Given the description of an element on the screen output the (x, y) to click on. 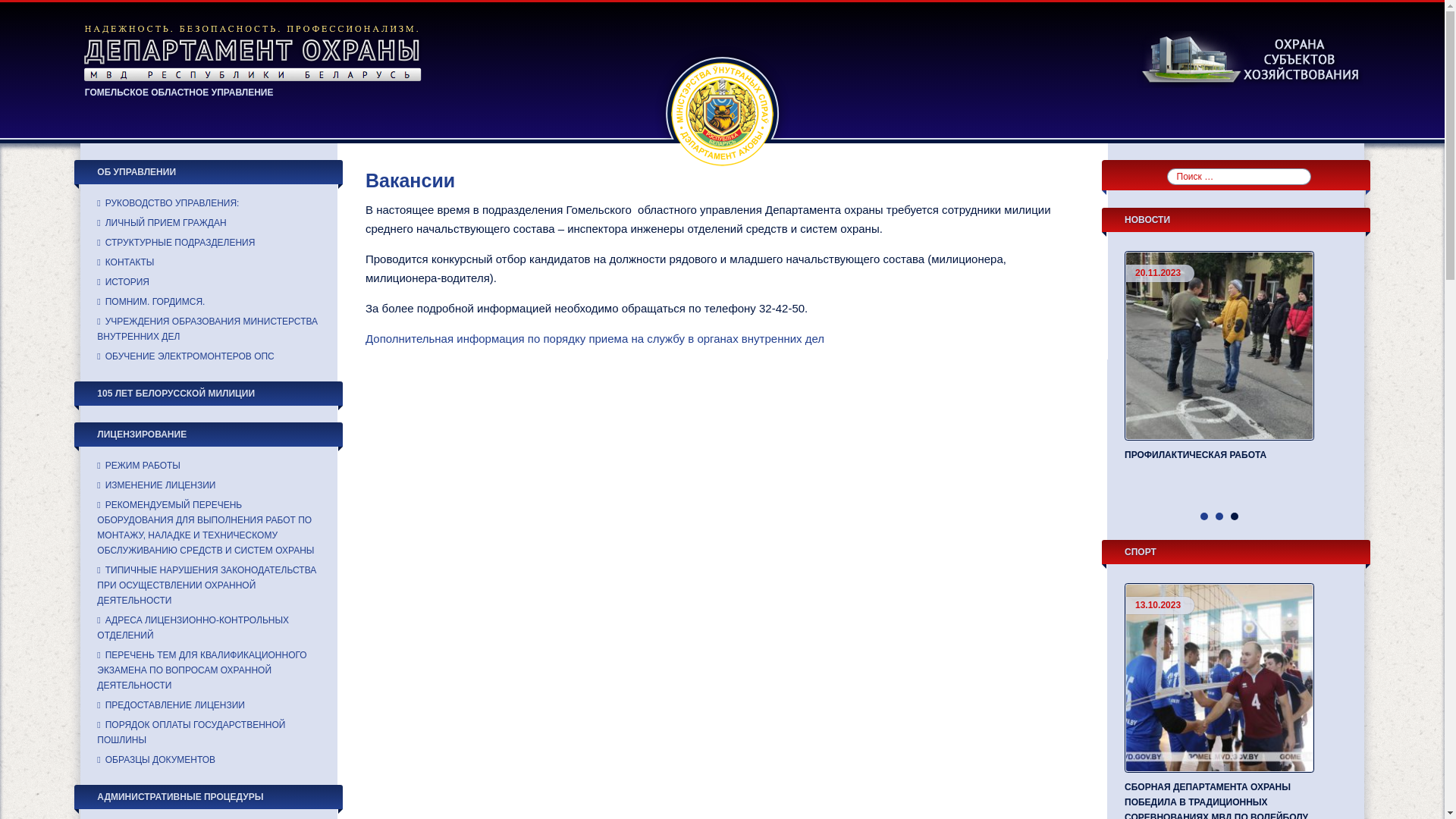
2 Element type: text (1219, 516)
1 Element type: text (1204, 516)
3 Element type: text (1234, 516)
